Given the description of an element on the screen output the (x, y) to click on. 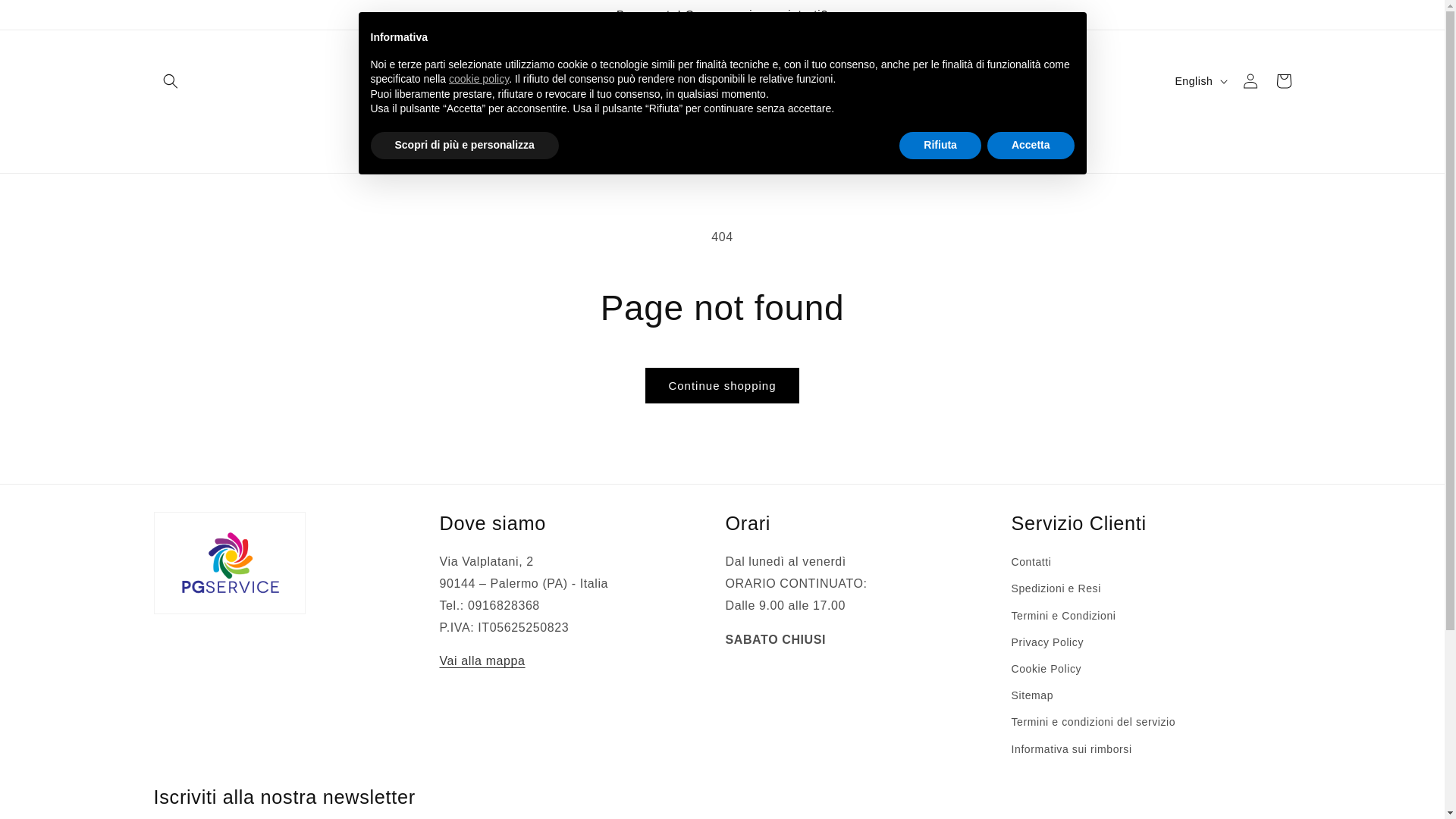
Accetta Element type: text (1030, 145)
Blog Element type: text (930, 140)
Cart Element type: text (1282, 80)
Termini e condizioni del servizio Element type: text (1093, 722)
Cookie Policy Element type: text (1046, 668)
Termini e Condizioni Element type: text (1063, 615)
Log in Element type: text (1249, 80)
Sitemap Element type: text (1032, 695)
Vai alla mappa Element type: text (482, 660)
English Element type: text (1199, 81)
Contatti Element type: text (1031, 563)
cookie policy Element type: text (478, 78)
Informativa sui rimborsi Element type: text (1071, 749)
Privacy Policy Element type: text (1047, 642)
Rifiuta Element type: text (940, 145)
Continue shopping Element type: text (721, 385)
Spedizioni e Resi Element type: text (1056, 588)
Contacts Element type: text (878, 140)
